Given the description of an element on the screen output the (x, y) to click on. 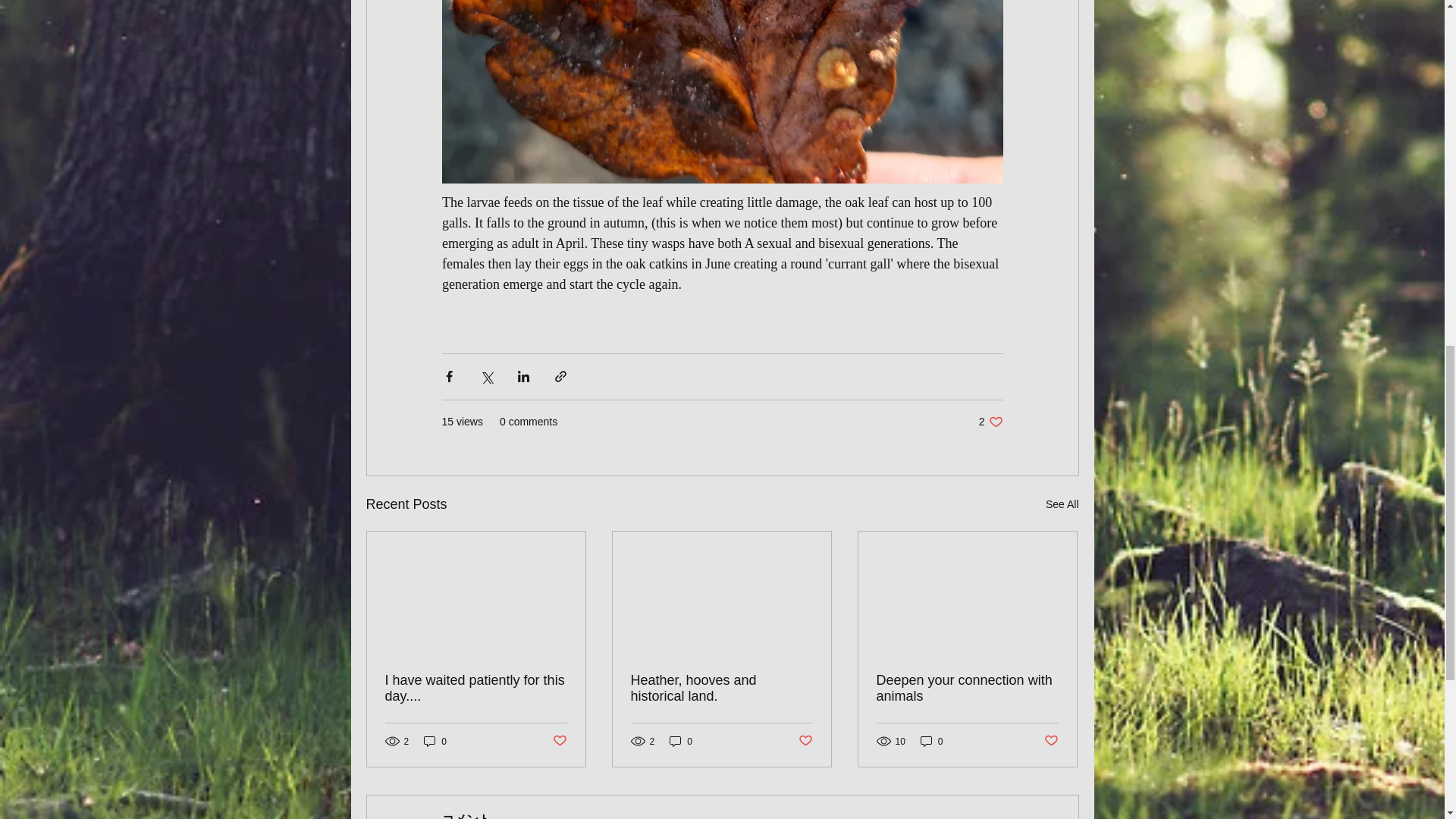
Post not marked as liked (804, 741)
Deepen your connection with animals (967, 688)
0 (990, 421)
0 (681, 740)
0 (435, 740)
Heather, hooves and historical land. (931, 740)
I have waited patiently for this day.... (721, 688)
Post not marked as liked (476, 688)
Post not marked as liked (558, 741)
See All (1050, 741)
